Given the description of an element on the screen output the (x, y) to click on. 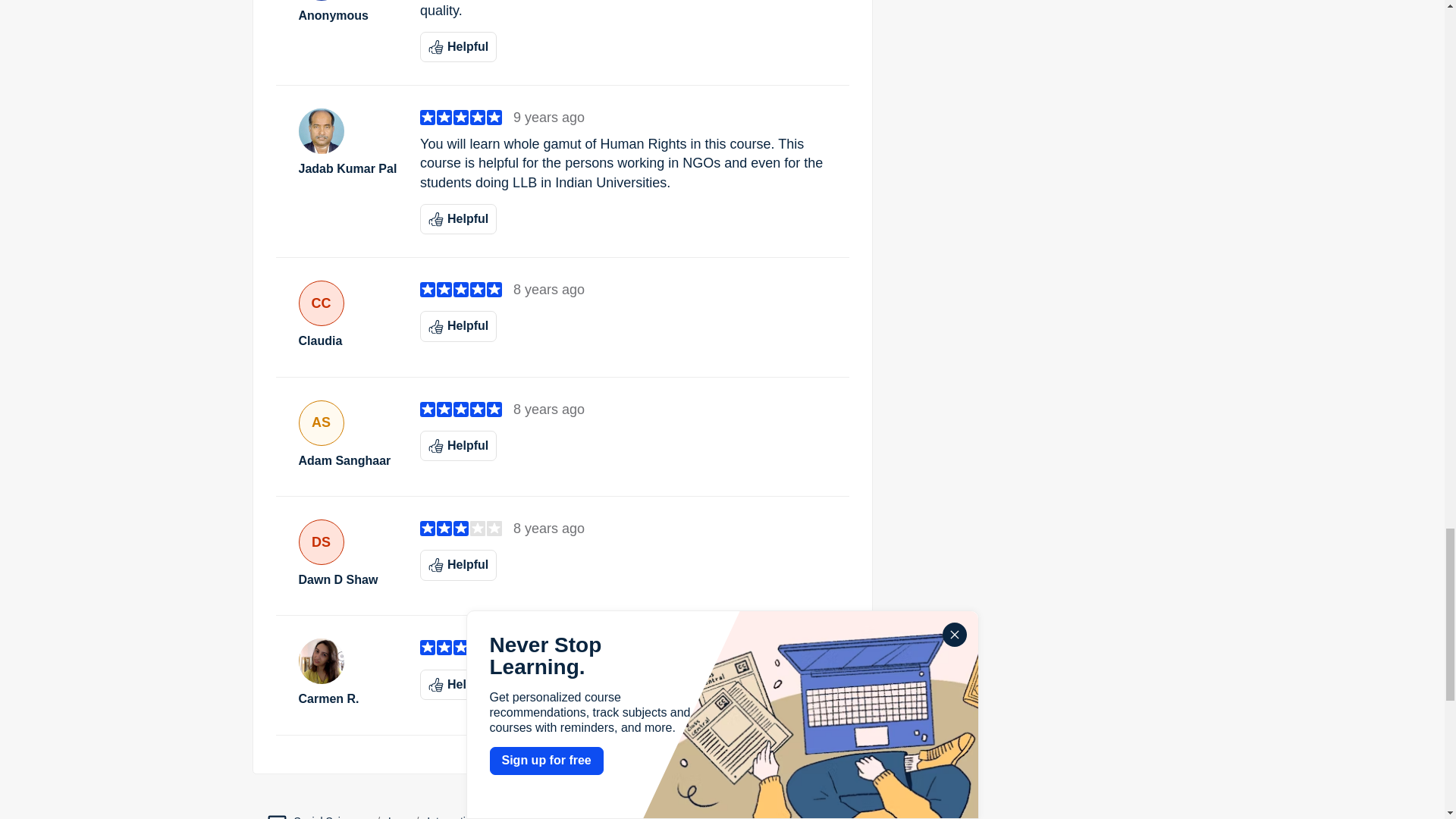
Claudia (347, 340)
Adam Sanghaar (347, 460)
Carmen R. (347, 698)
Anonymous (347, 15)
Jadab Kumar Pal (347, 168)
Dawn D Shaw (347, 580)
